Given the description of an element on the screen output the (x, y) to click on. 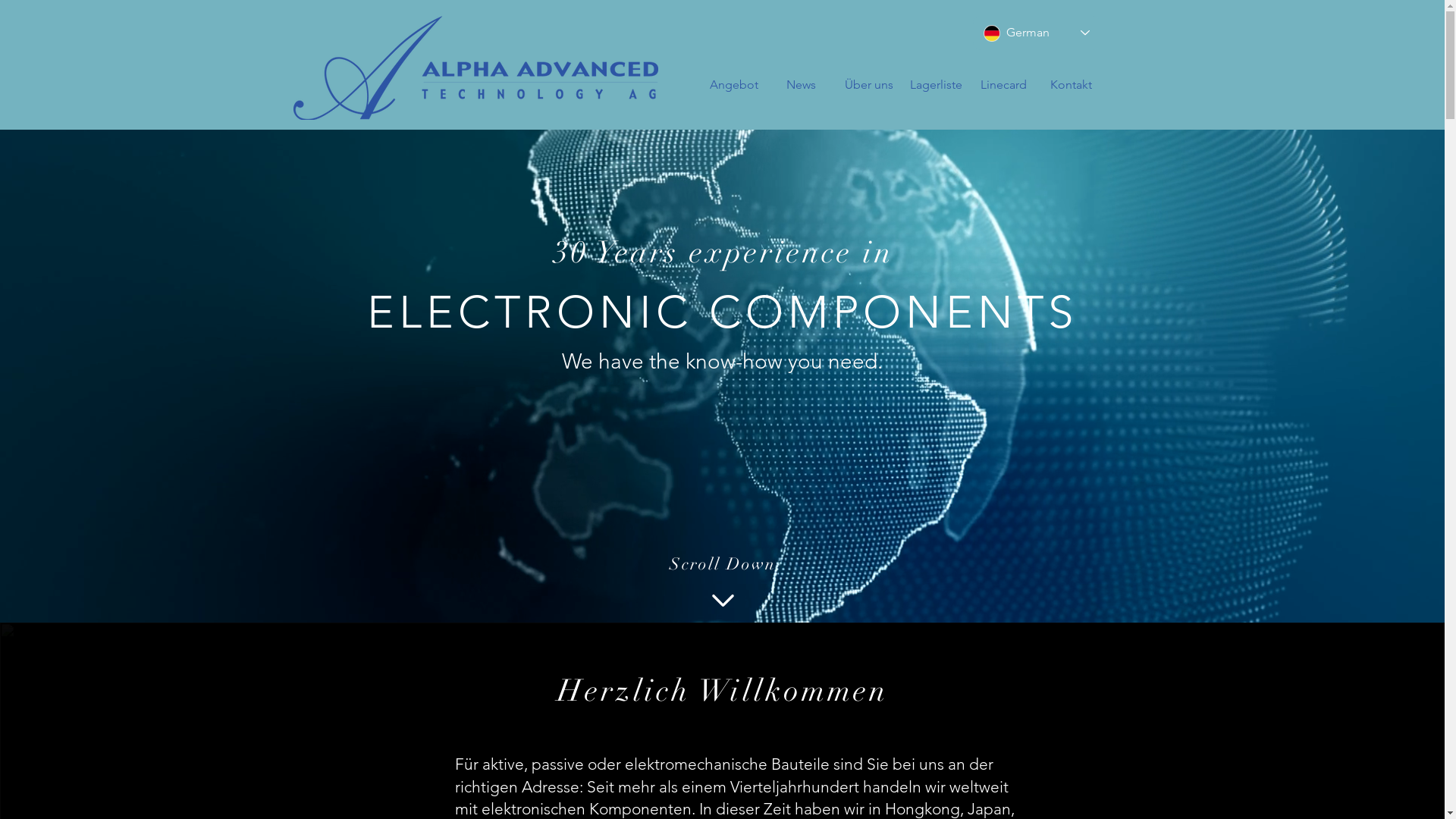
News Element type: text (800, 84)
Lagerliste Element type: text (935, 84)
Linecard Element type: text (1003, 84)
Angebot Element type: text (733, 84)
Kontakt Element type: text (1070, 84)
